Given the description of an element on the screen output the (x, y) to click on. 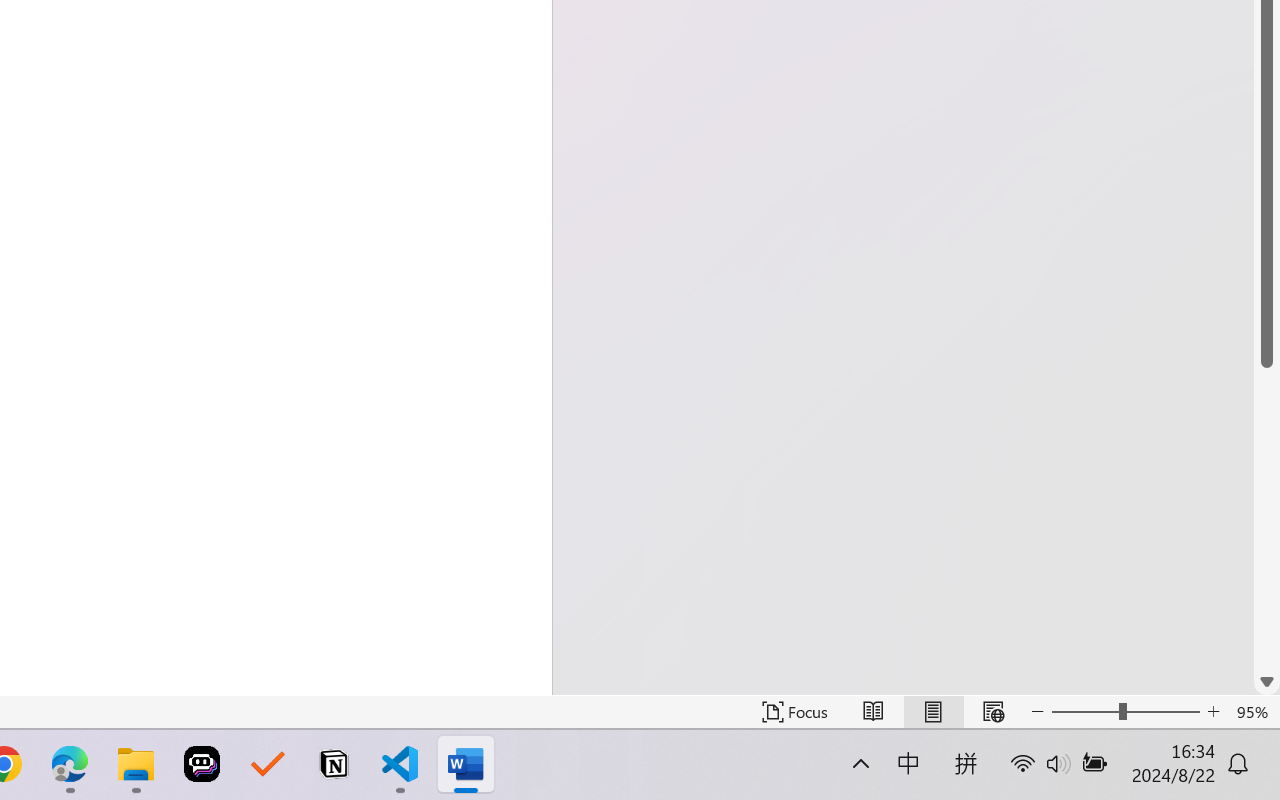
Page down (1267, 518)
Zoom 95% (1253, 712)
Line down (1267, 681)
